Given the description of an element on the screen output the (x, y) to click on. 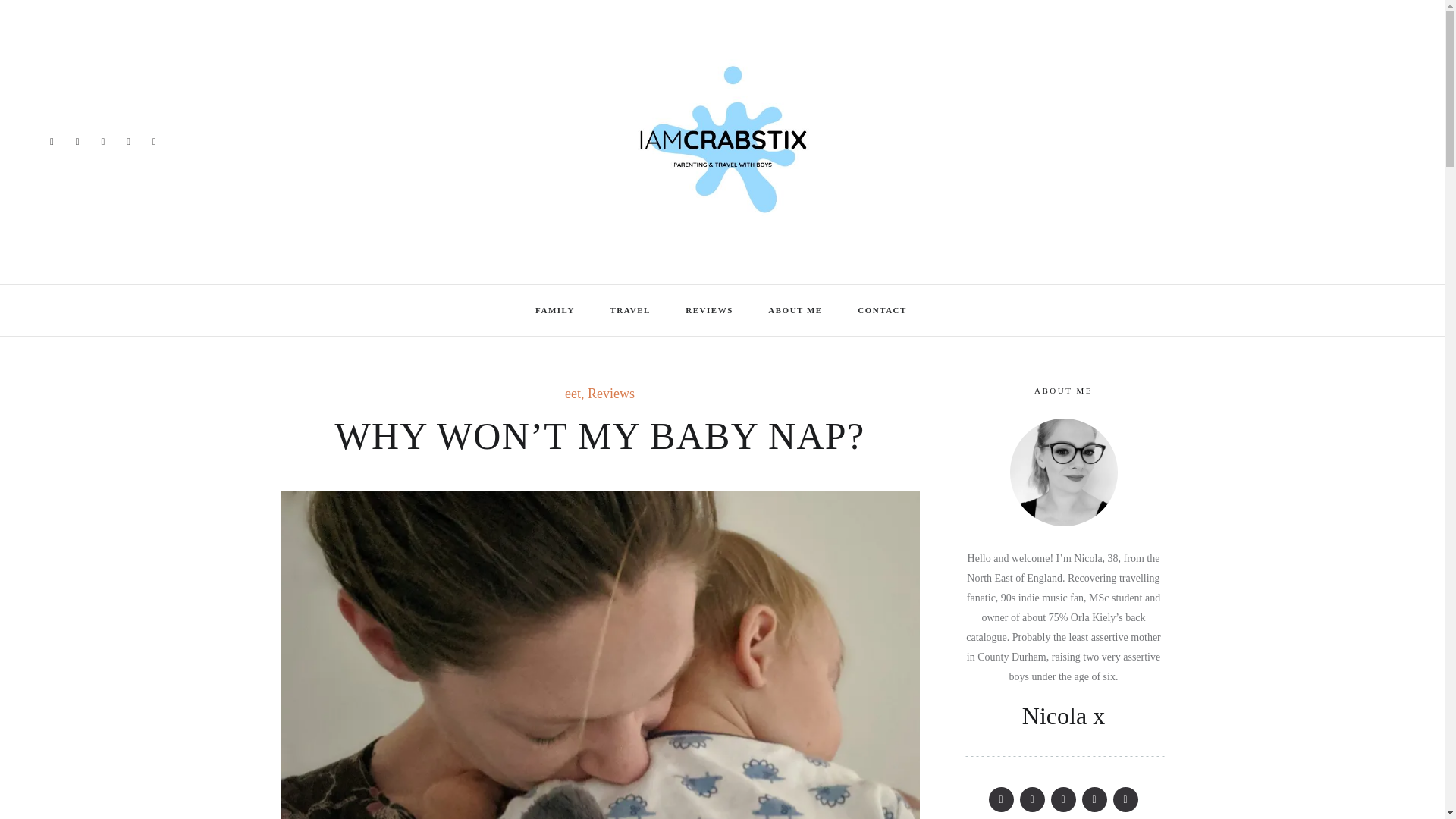
Facebook (1000, 799)
REVIEWS (709, 310)
FAMILY (555, 310)
eet (572, 393)
ABOUT ME (796, 310)
CONTACT (883, 310)
Twitter (1032, 799)
Reviews (611, 393)
Pinterest (1063, 799)
TRAVEL (630, 310)
